Given the description of an element on the screen output the (x, y) to click on. 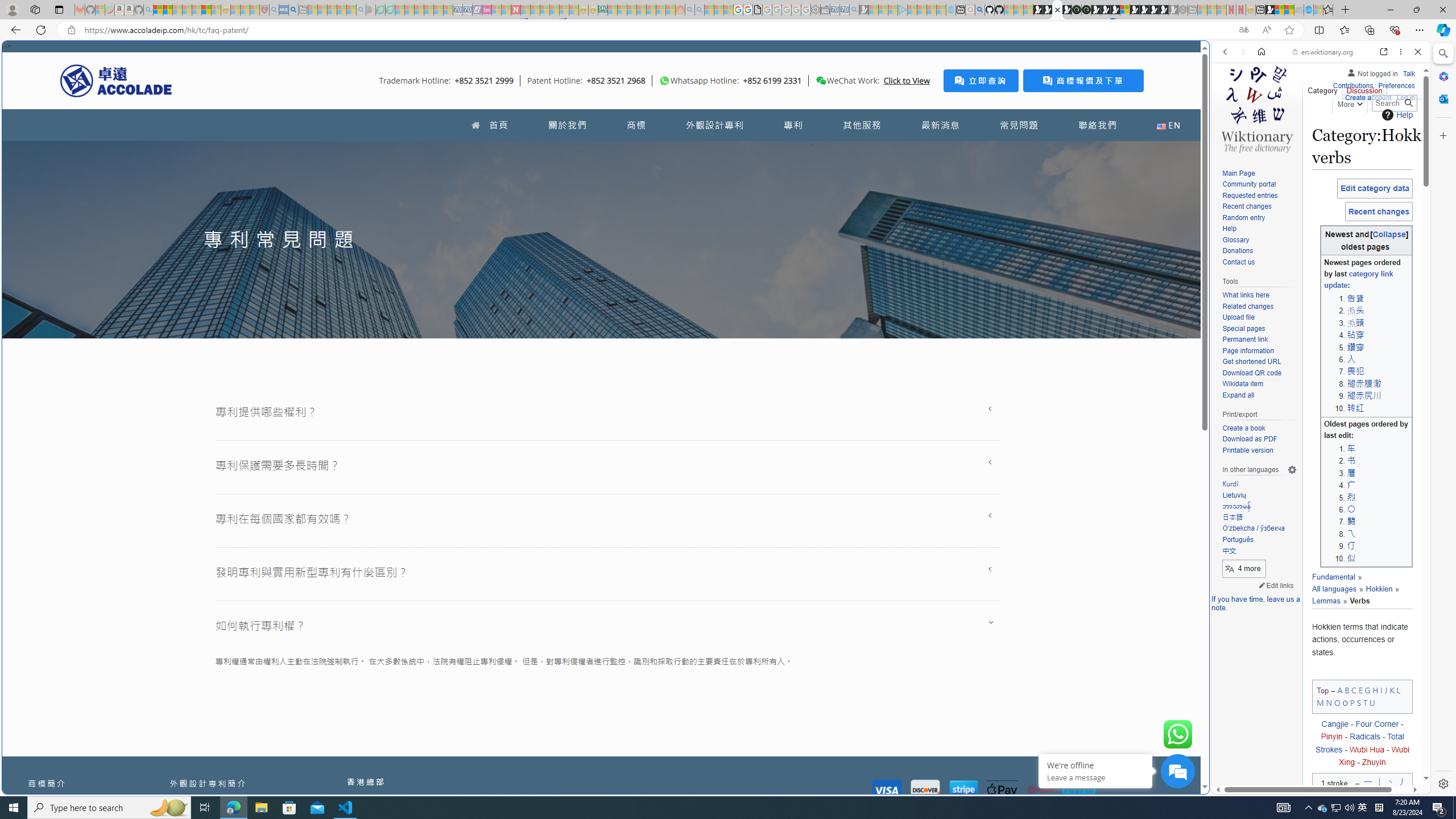
Special pages (1243, 328)
Hokkien (1379, 588)
Glossary (1235, 239)
Page information (1247, 350)
Get shortened URL (1259, 361)
Wubi Xing (1374, 755)
